Given the description of an element on the screen output the (x, y) to click on. 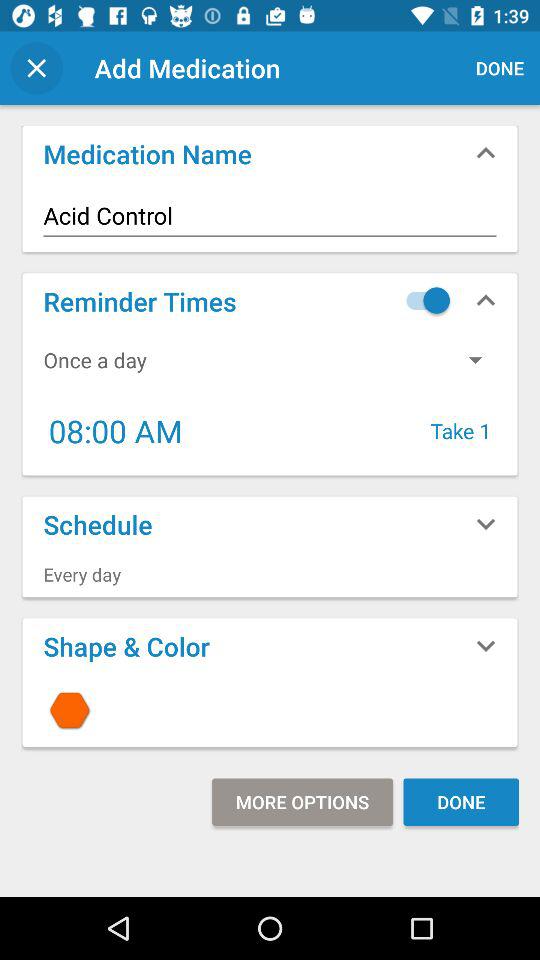
launch the item above the more options (269, 709)
